Given the description of an element on the screen output the (x, y) to click on. 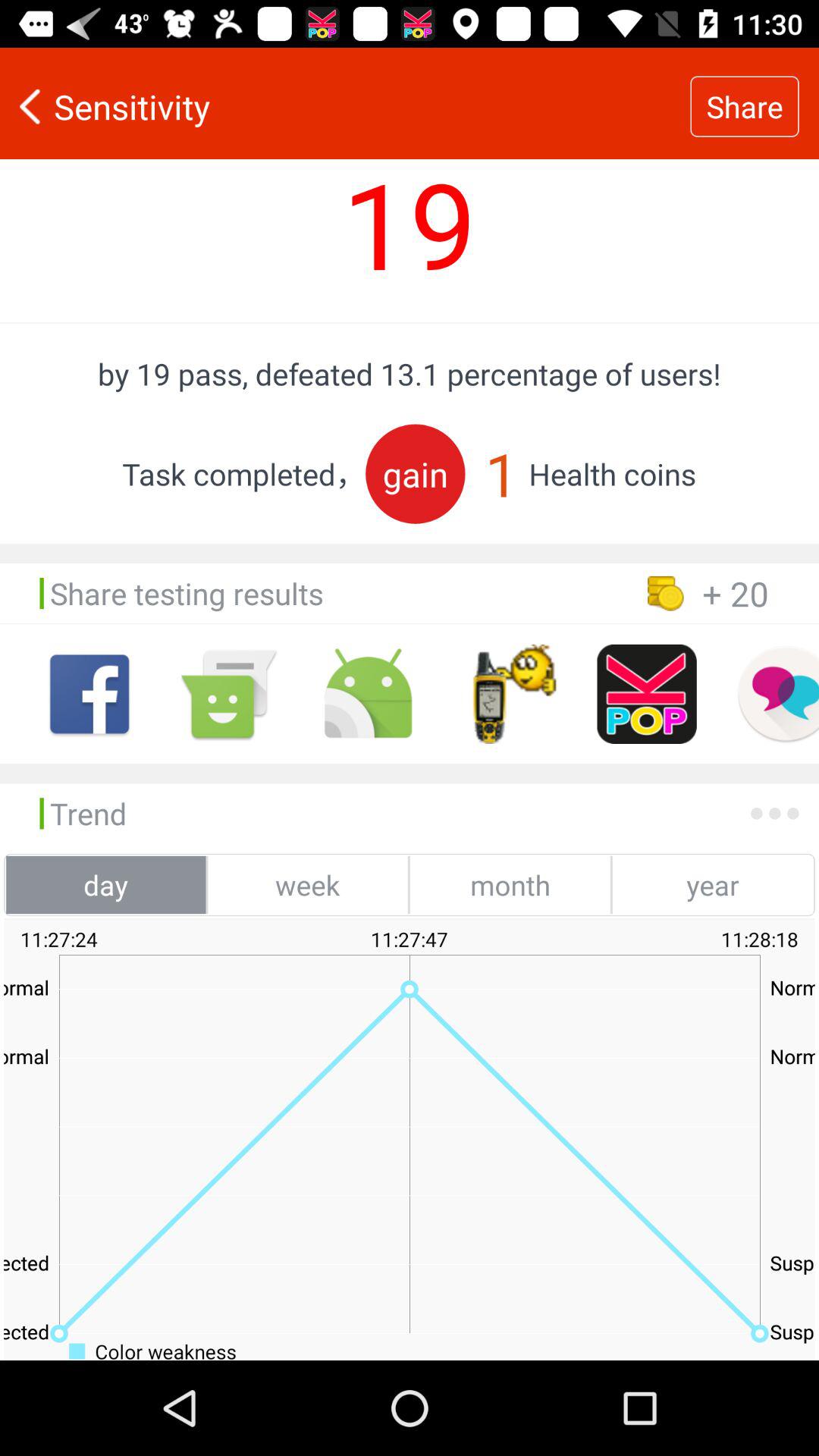
press the item below by 19 pass item (415, 473)
